Given the description of an element on the screen output the (x, y) to click on. 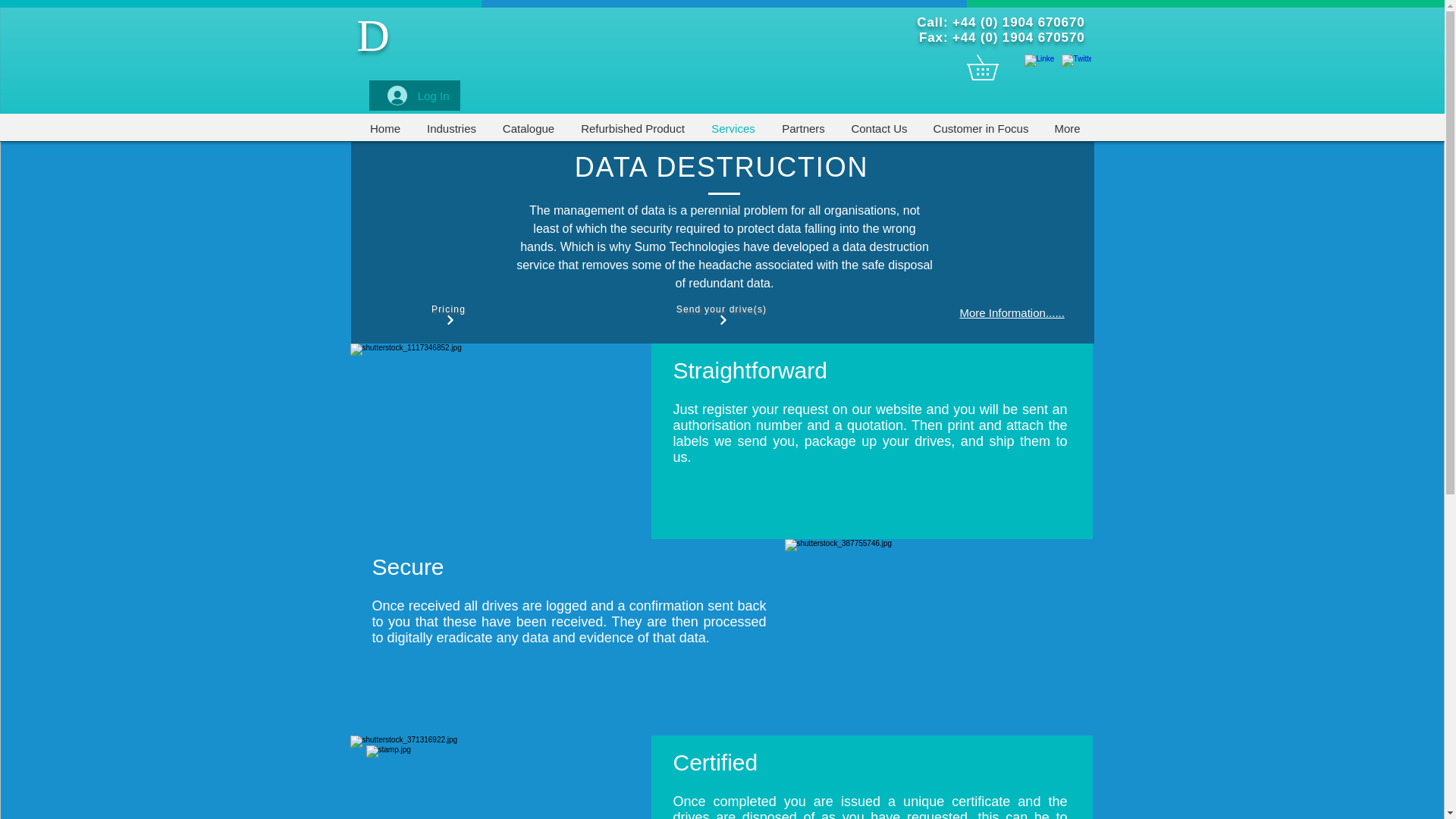
Services (732, 128)
Contact Us (879, 128)
Industries (451, 128)
More Information...... (1011, 312)
Pricing (449, 314)
Log In (418, 95)
Partners (803, 128)
Customer in Focus (981, 128)
Catalogue (528, 128)
Home (384, 128)
Refurbished Product (632, 128)
